Given the description of an element on the screen output the (x, y) to click on. 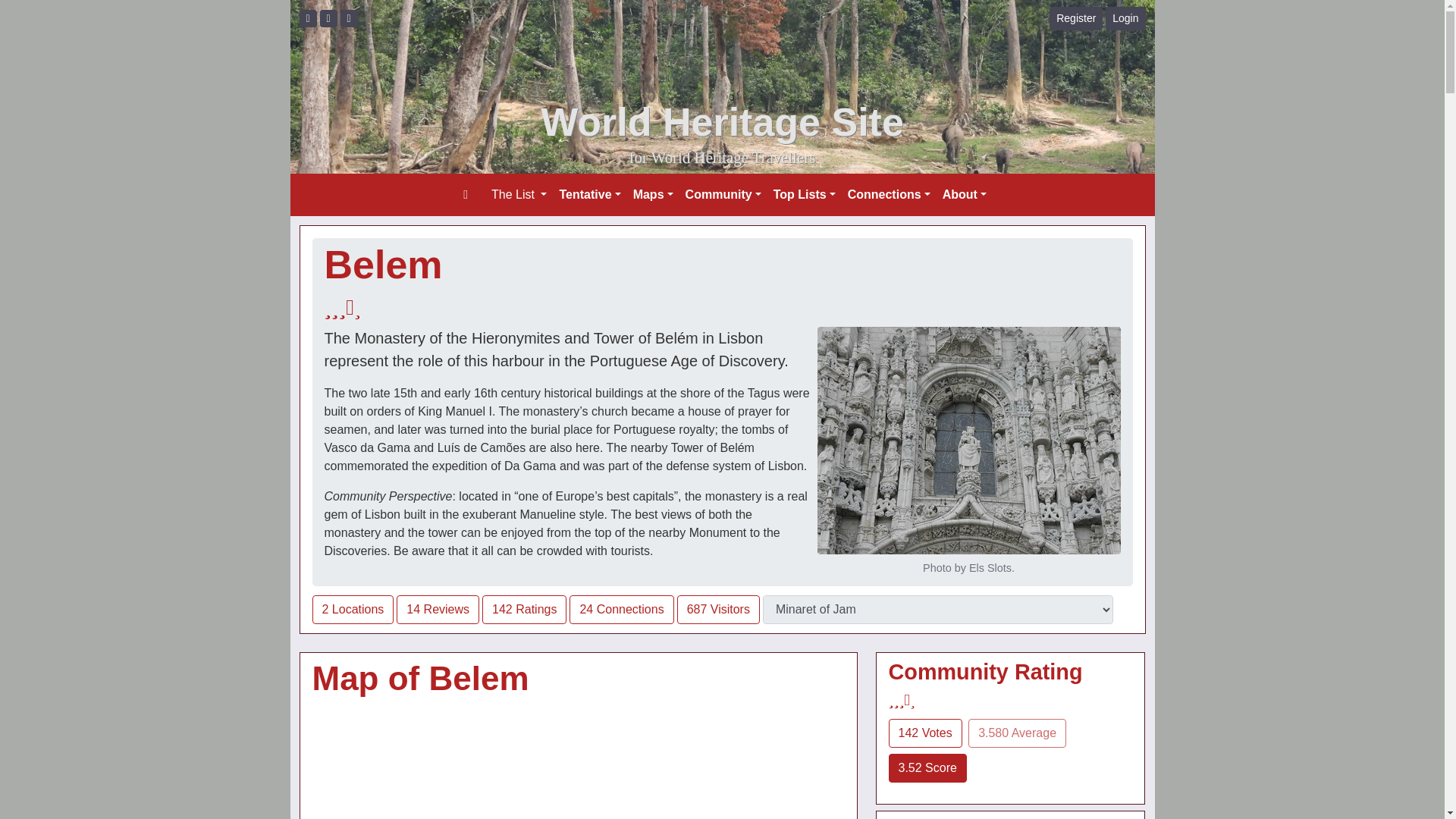
Sangha (328, 18)
Maps (653, 194)
The List (518, 194)
Community (723, 194)
Register (1075, 18)
Sites (937, 609)
Tentative (589, 194)
Login (1124, 18)
